Given the description of an element on the screen output the (x, y) to click on. 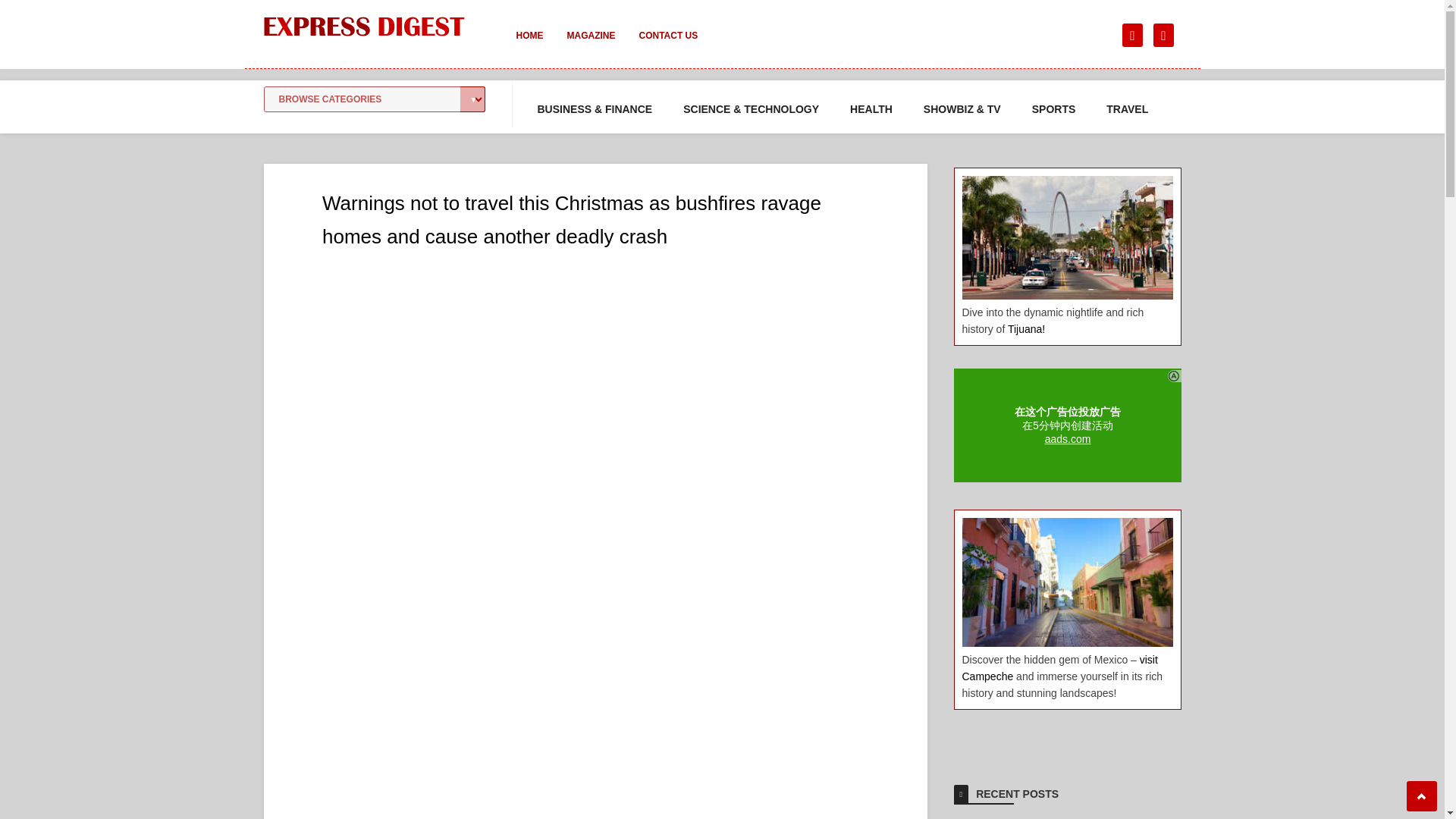
TRAVEL (1127, 109)
CONTACT US (667, 45)
Tijuana! (1026, 328)
HEALTH (871, 109)
visit Campeche (1058, 667)
SPORTS (1053, 109)
MAGAZINE (590, 45)
